Given the description of an element on the screen output the (x, y) to click on. 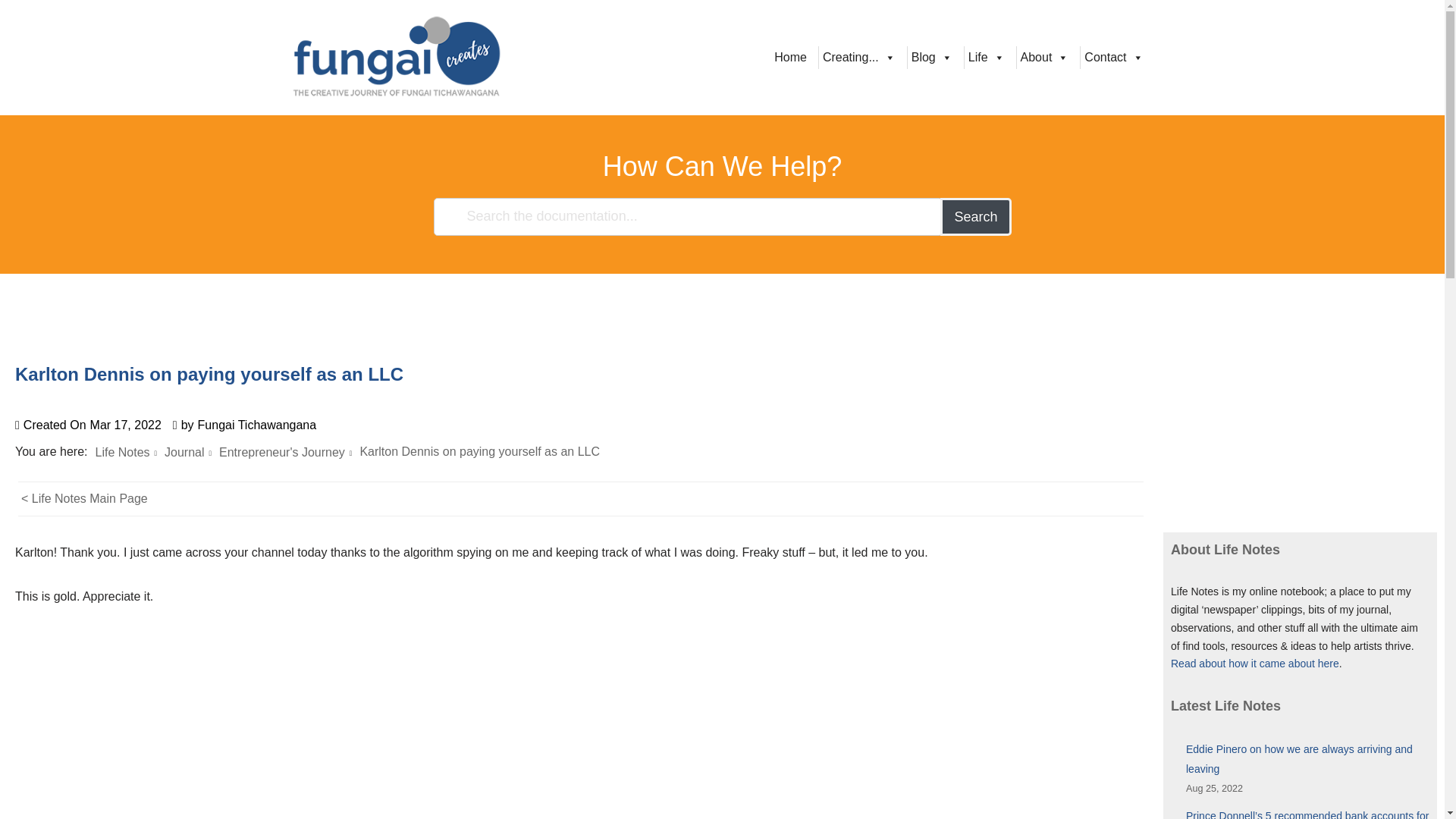
Blog (931, 56)
Home (790, 56)
About (1044, 56)
Contact (1113, 56)
Creating... (858, 56)
Skip to content (11, 31)
Fungai Creates (395, 57)
Life (986, 56)
